Given the description of an element on the screen output the (x, y) to click on. 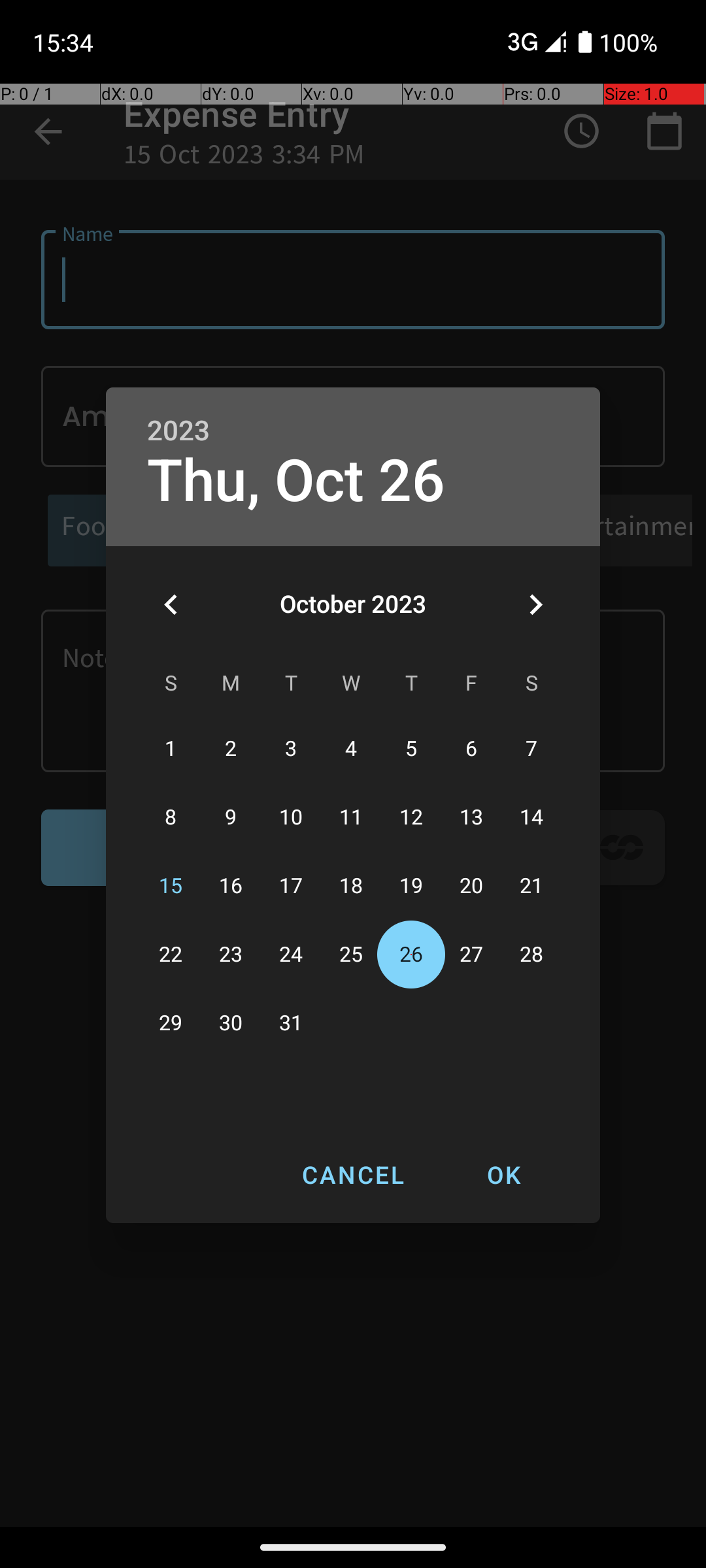
Thu, Oct 26 Element type: android.widget.TextView (296, 480)
